Given the description of an element on the screen output the (x, y) to click on. 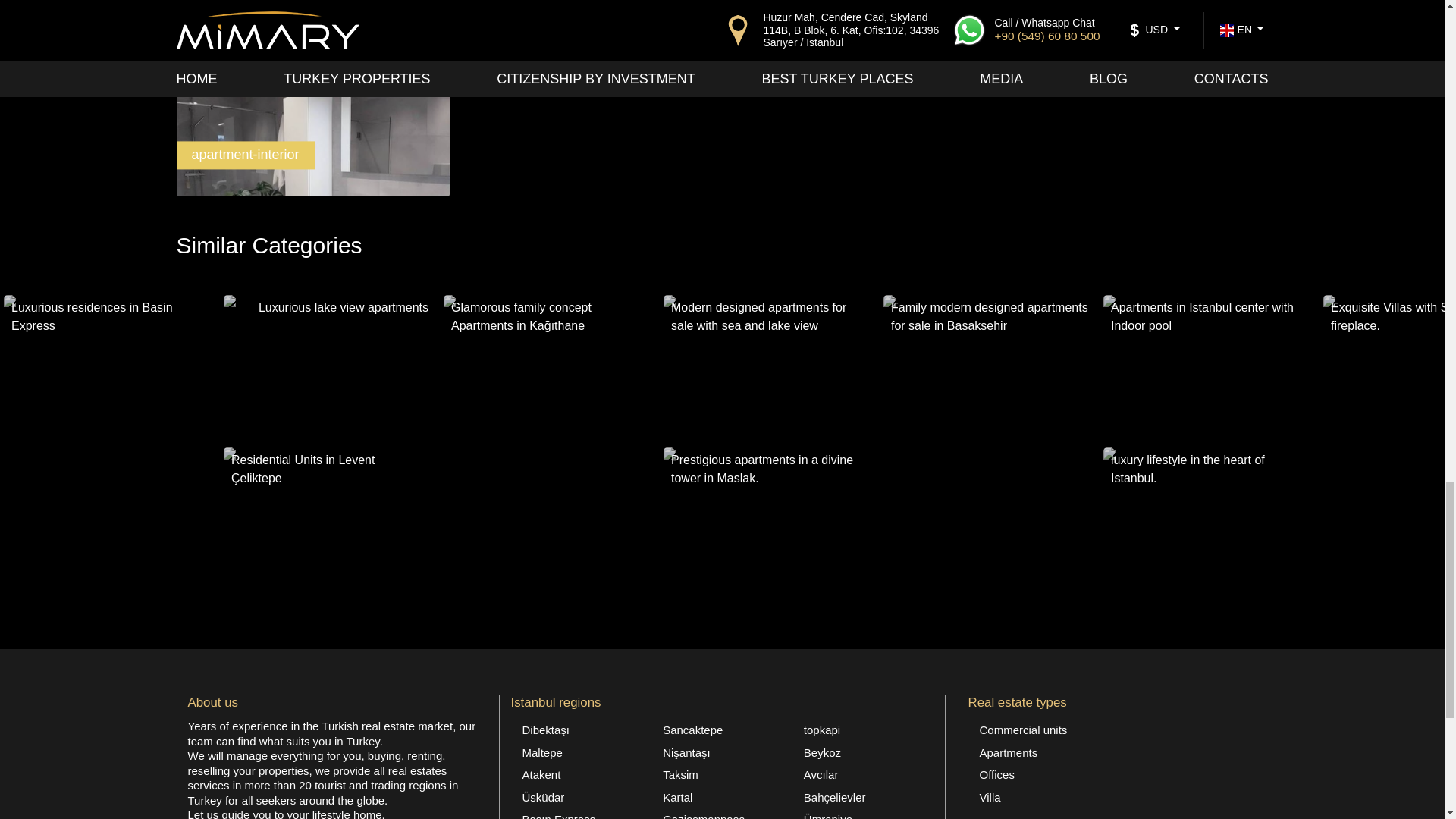
topkapi (862, 730)
Atakent (581, 774)
Modern designed apartments for sale with sea and lake view (769, 366)
Luxurious lake view apartments (329, 366)
Sancaktepe (721, 730)
Maltepe (581, 753)
Beykoz (862, 753)
Kartal (721, 797)
Taksim (721, 774)
